Given the description of an element on the screen output the (x, y) to click on. 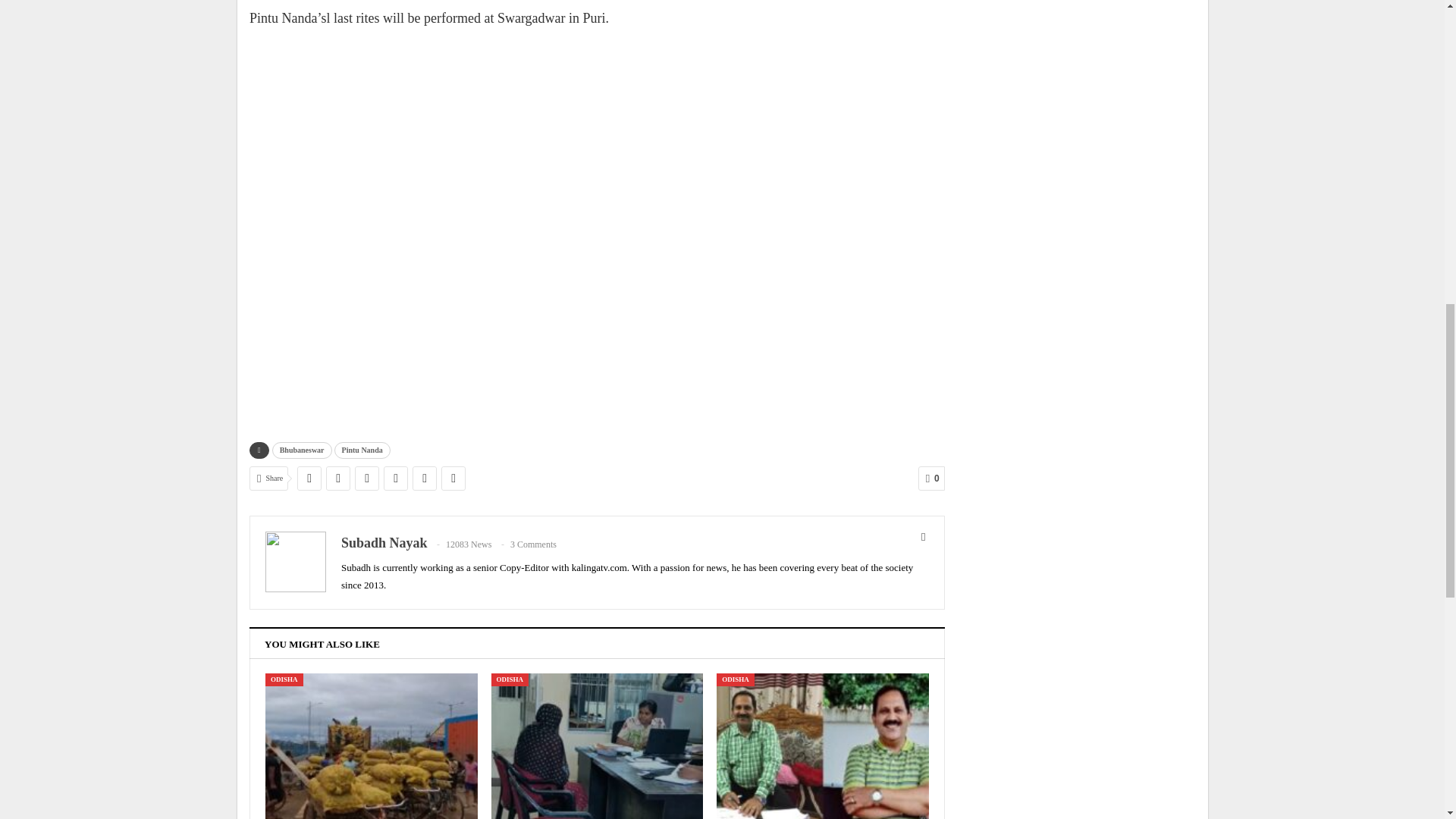
Pintu Nanda (362, 450)
0 (931, 478)
Subadh Nayak (384, 542)
Bhubaneswar (301, 450)
